Given the description of an element on the screen output the (x, y) to click on. 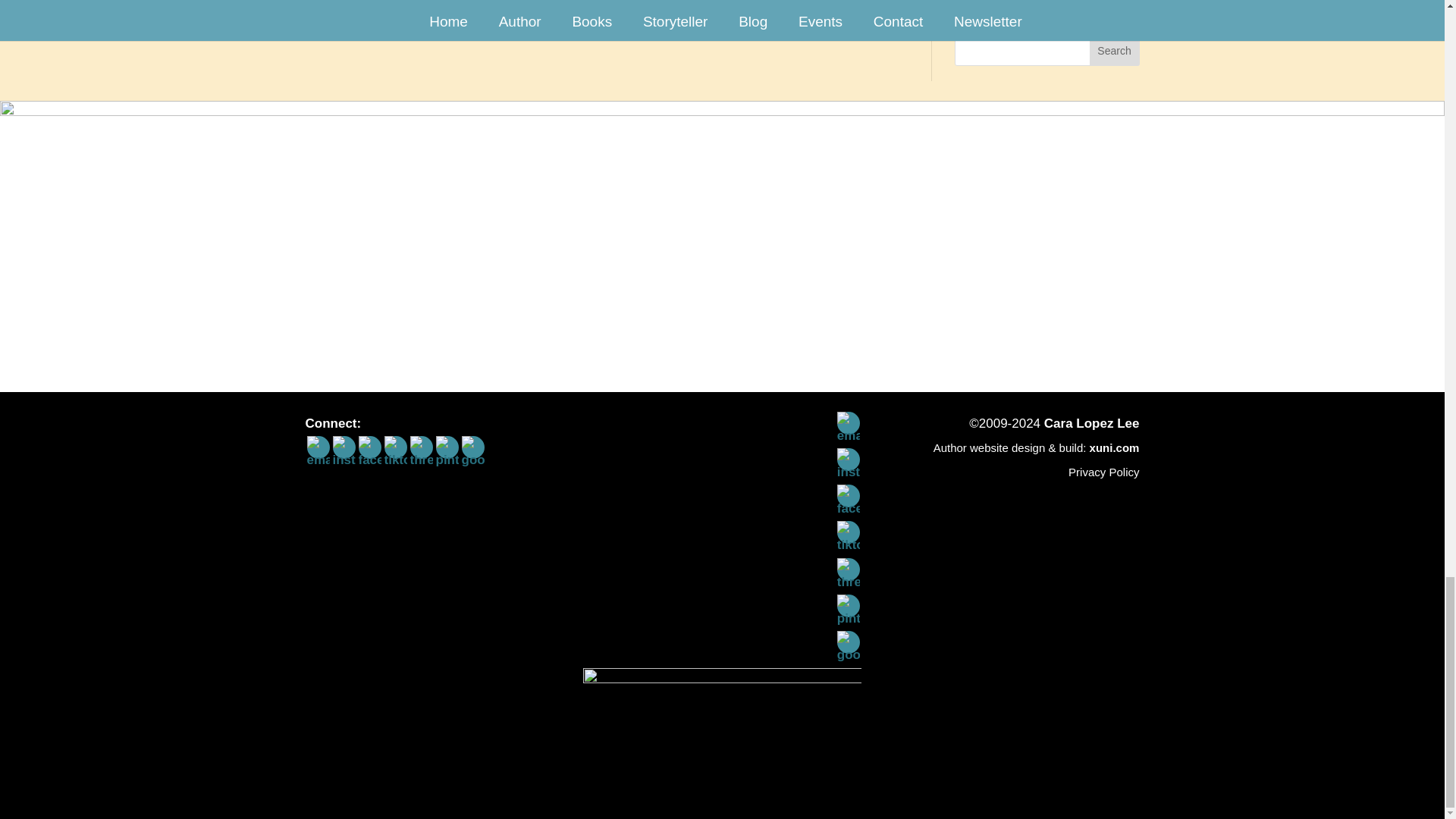
Search (1114, 51)
butterfly (722, 734)
